Given the description of an element on the screen output the (x, y) to click on. 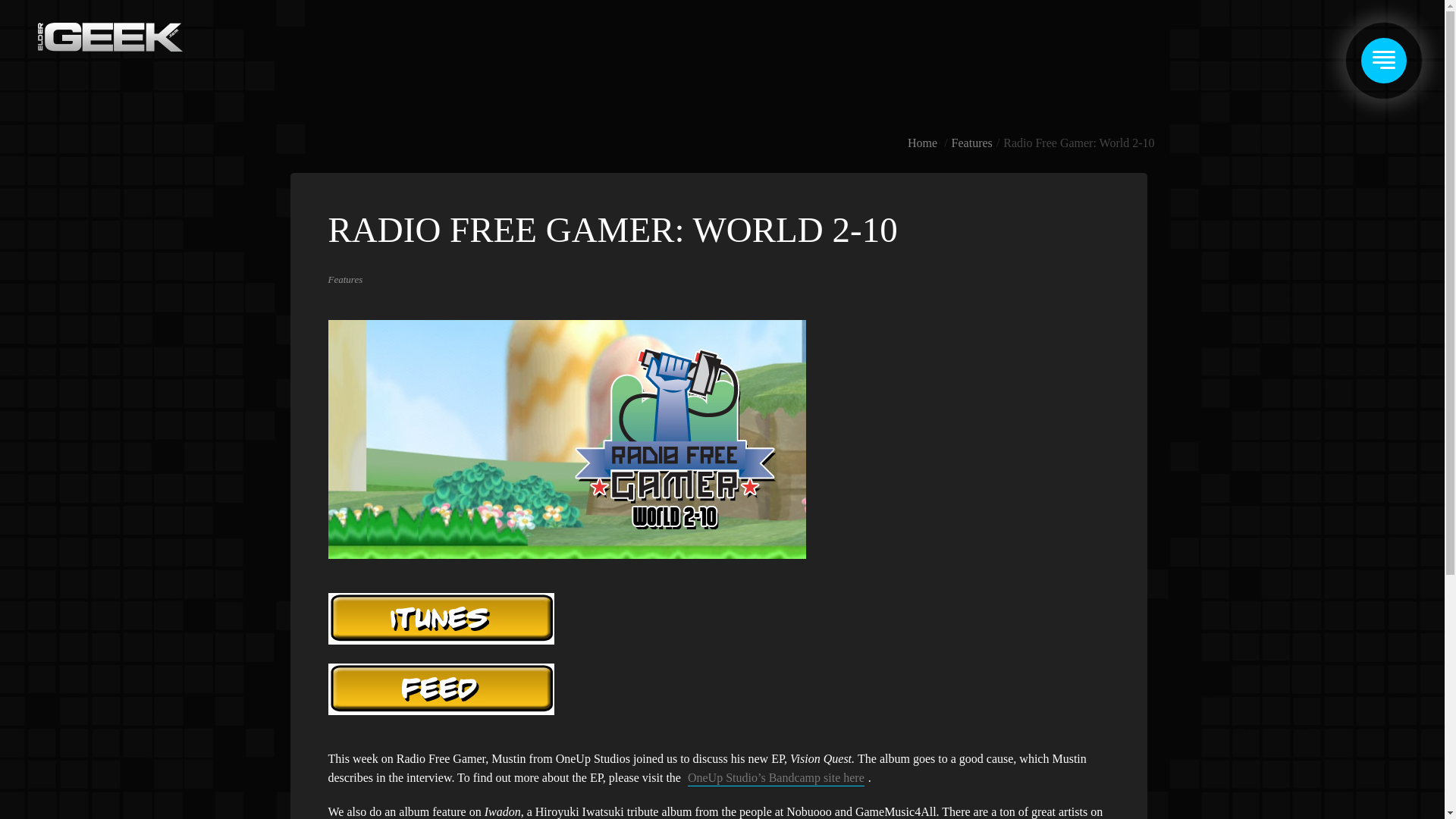
Home (922, 142)
itunes-button (440, 618)
Features (972, 142)
feed-button (440, 688)
Features (344, 279)
world210 (566, 439)
